Given the description of an element on the screen output the (x, y) to click on. 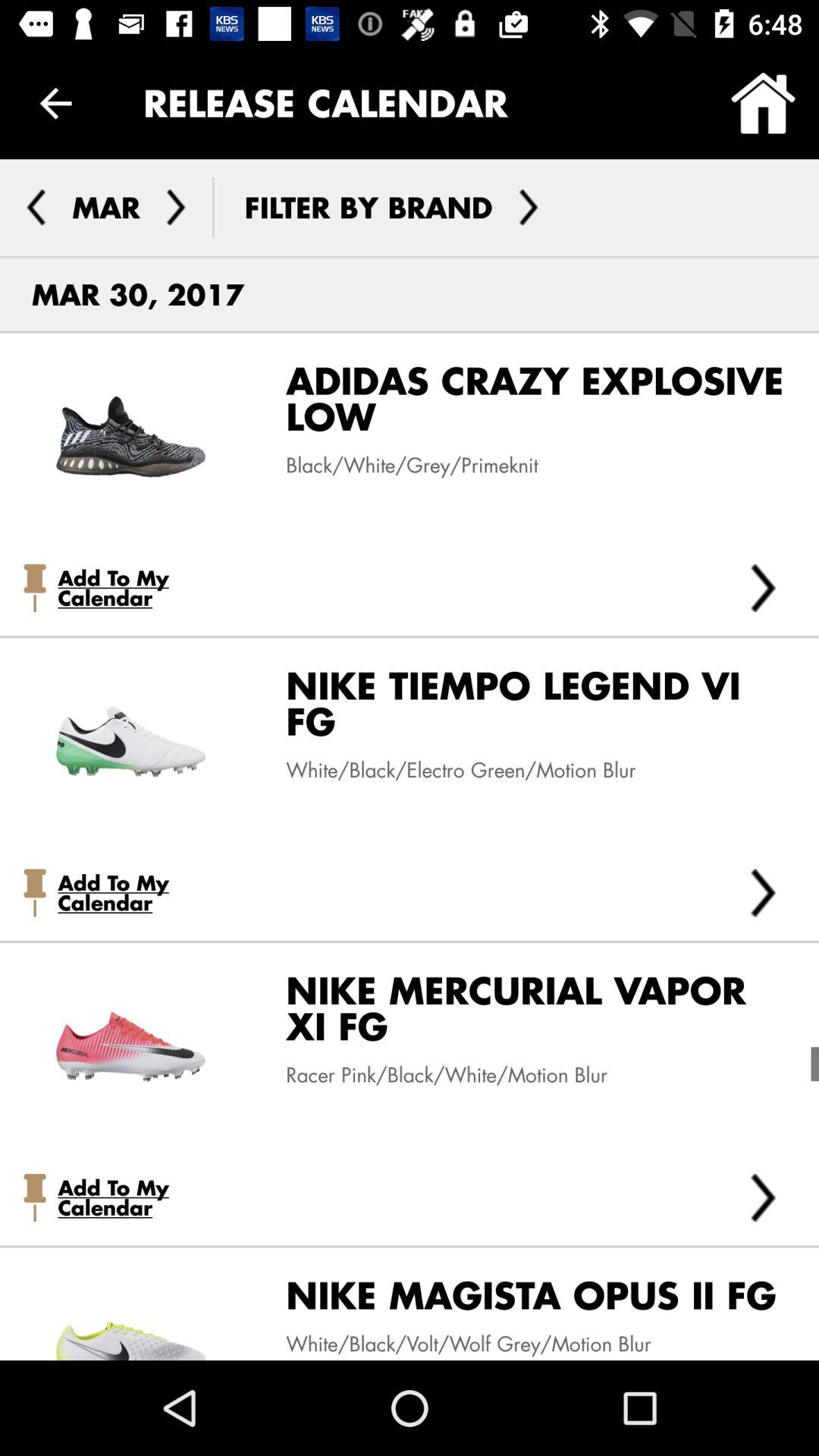
launch the nike tiempo legend item (524, 709)
